Given the description of an element on the screen output the (x, y) to click on. 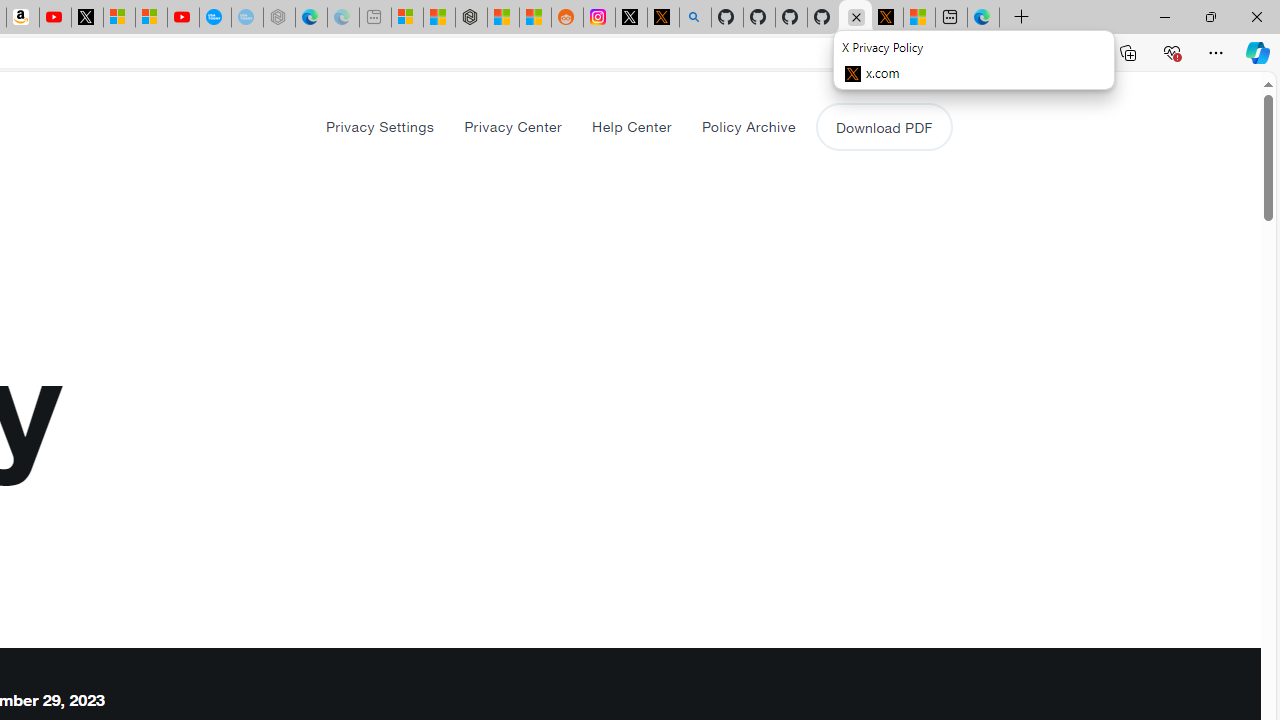
github - Search (694, 17)
Download PDF (884, 126)
Policy Archive (747, 126)
Shanghai, China Weather trends | Microsoft Weather (535, 17)
Nordace - Nordace has arrived Hong Kong - Sleeping (279, 17)
Day 1: Arriving in Yemen (surreal to be here) - YouTube (54, 17)
